Given the description of an element on the screen output the (x, y) to click on. 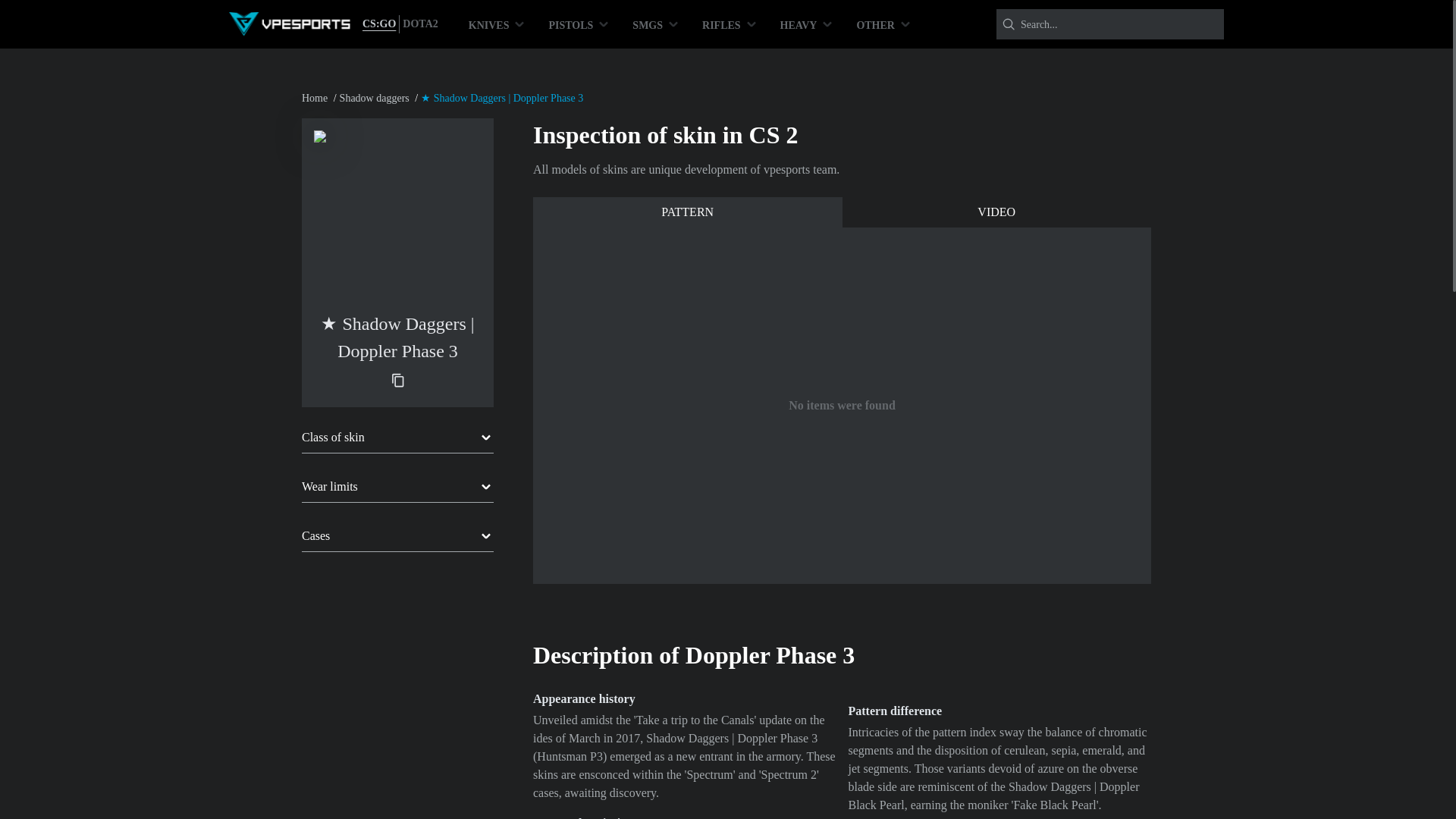
CS:GO (379, 23)
DOTA2 (420, 23)
